Given the description of an element on the screen output the (x, y) to click on. 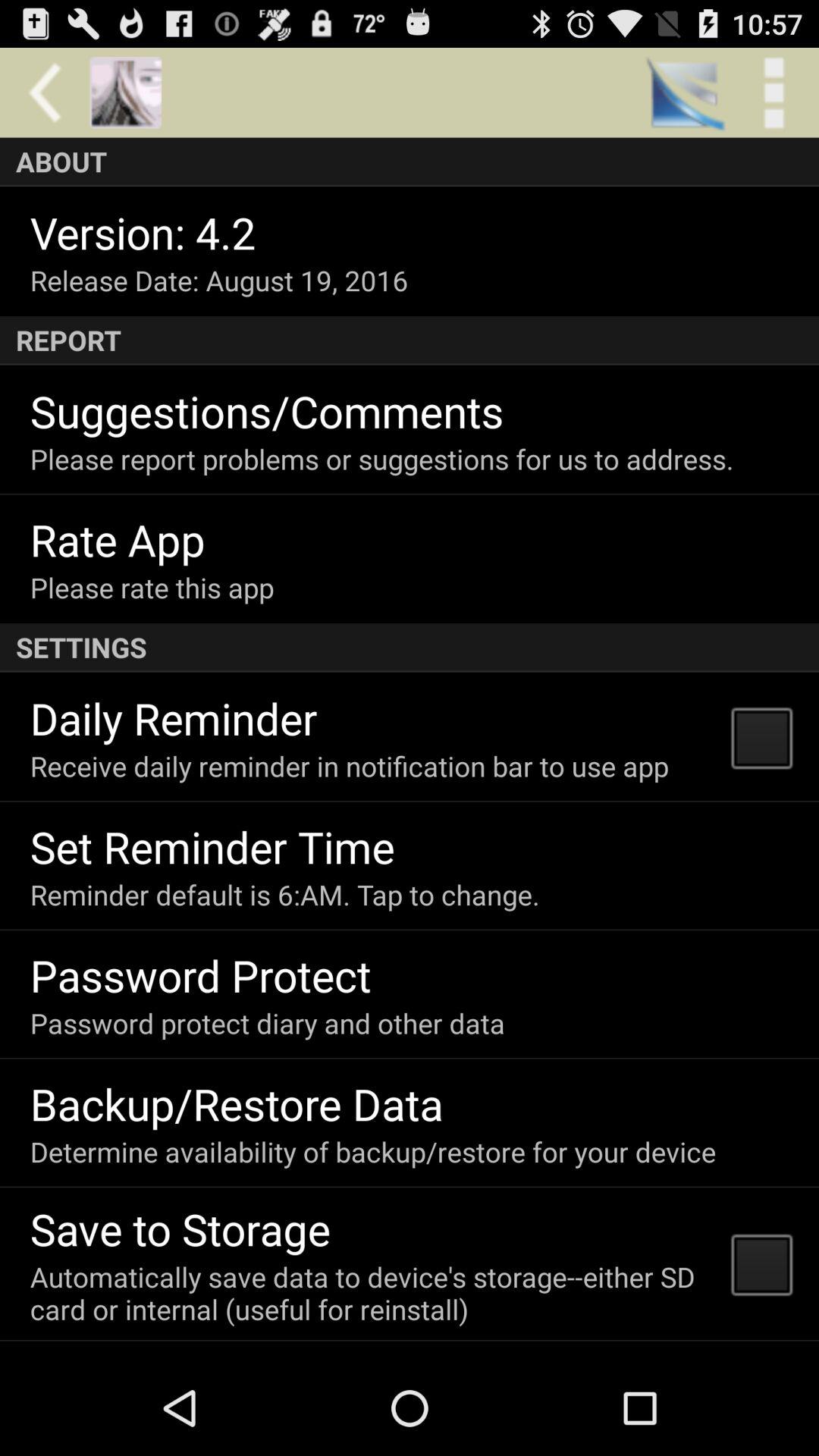
tap item above the release date august app (142, 232)
